Given the description of an element on the screen output the (x, y) to click on. 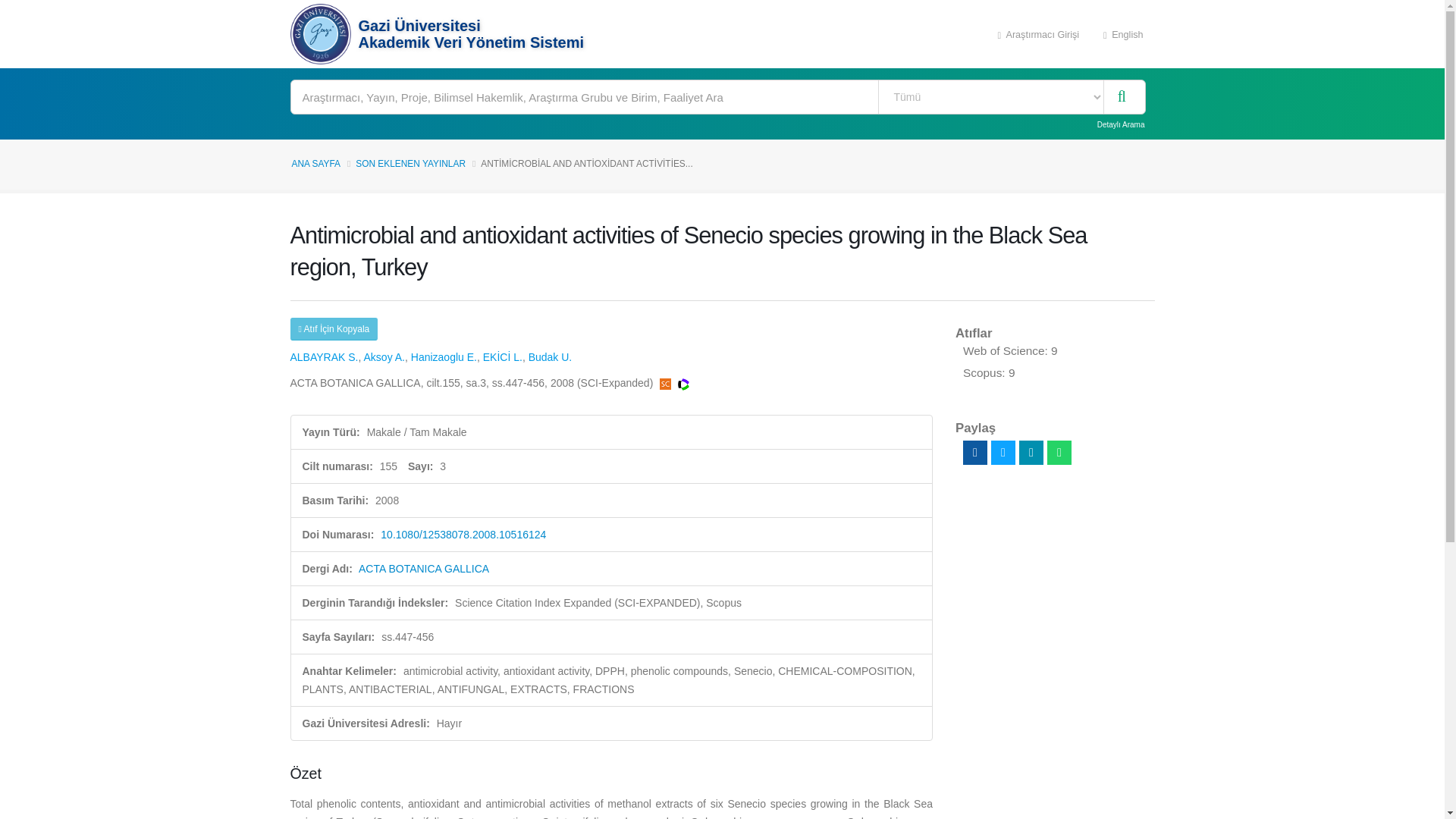
ANA SAYFA (315, 163)
Aksoy A. (384, 357)
Budak U. (550, 357)
ACTA BOTANICA GALLICA (423, 568)
Ahmet Aksoy (384, 357)
English (1123, 33)
ALBAYRAK S. (323, 357)
Umit Budak (550, 357)
SON EKLENEN YAYINLAR (410, 163)
Hanizaoglu E. (443, 357)
